Given the description of an element on the screen output the (x, y) to click on. 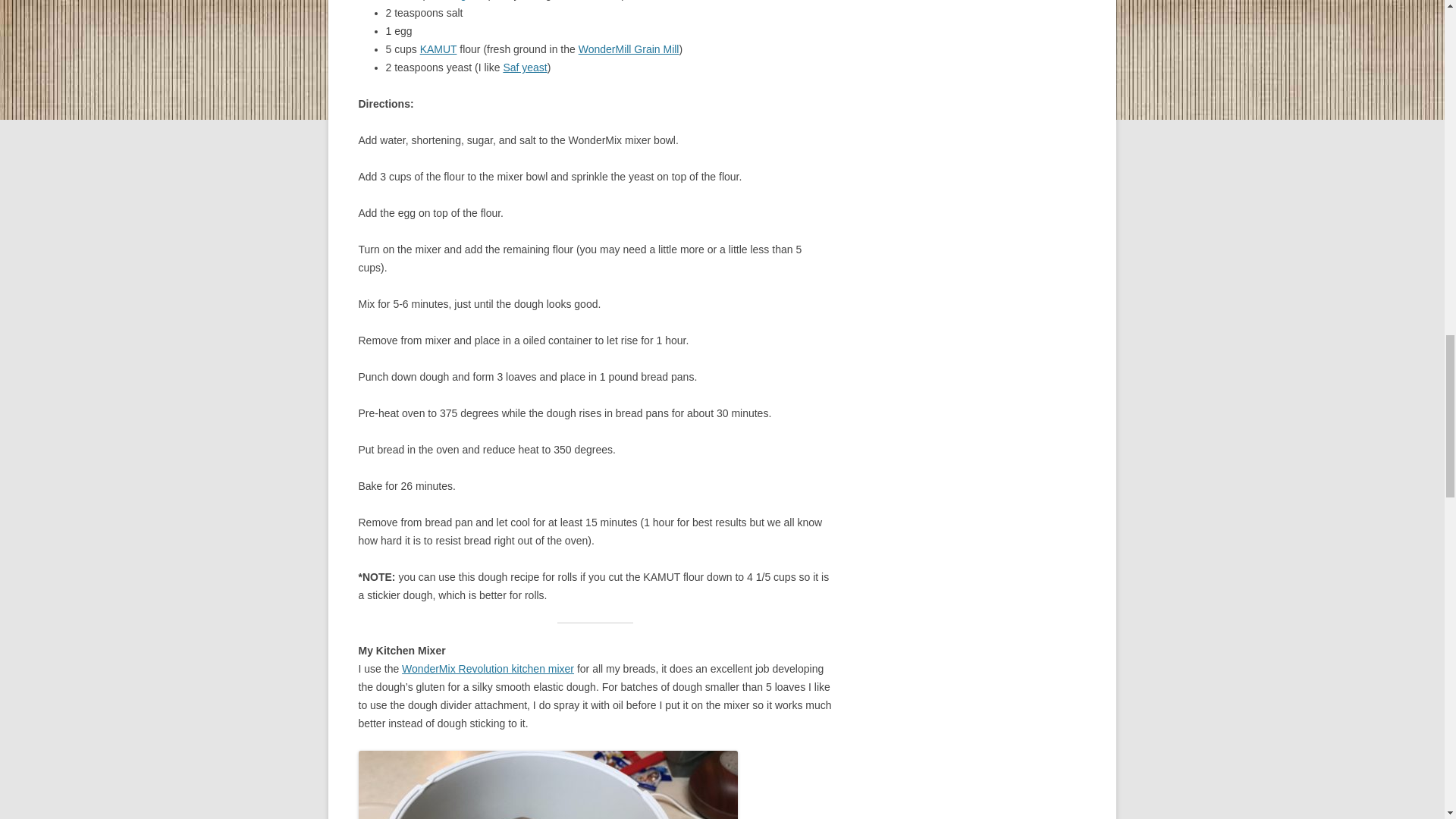
Saf yeast (524, 67)
WonderMix Revolution kitchen mixer (487, 668)
KAMUT (438, 49)
WonderMill Grain Mill (628, 49)
